Given the description of an element on the screen output the (x, y) to click on. 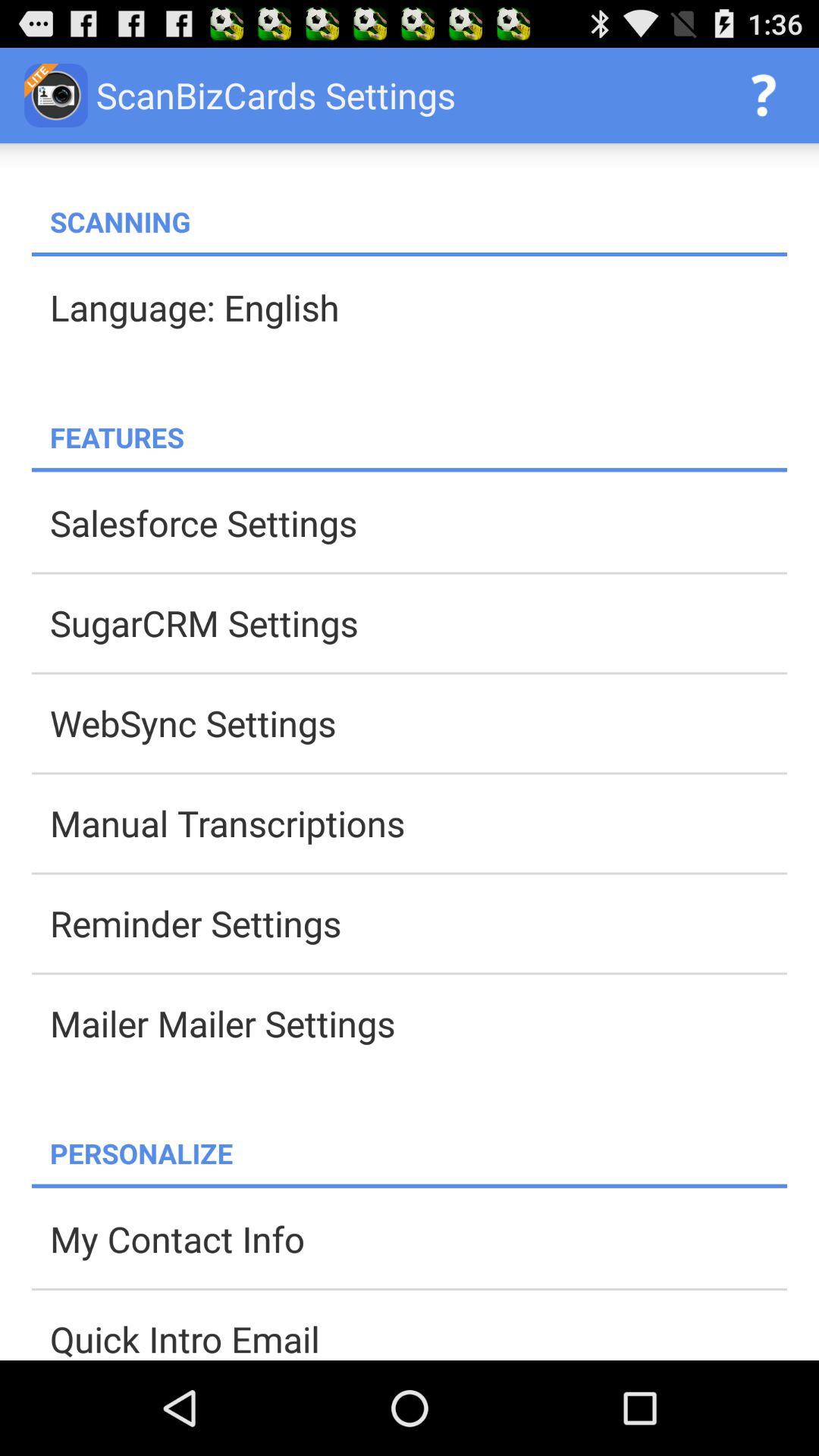
swipe until mailer mailer settings icon (418, 1023)
